Given the description of an element on the screen output the (x, y) to click on. 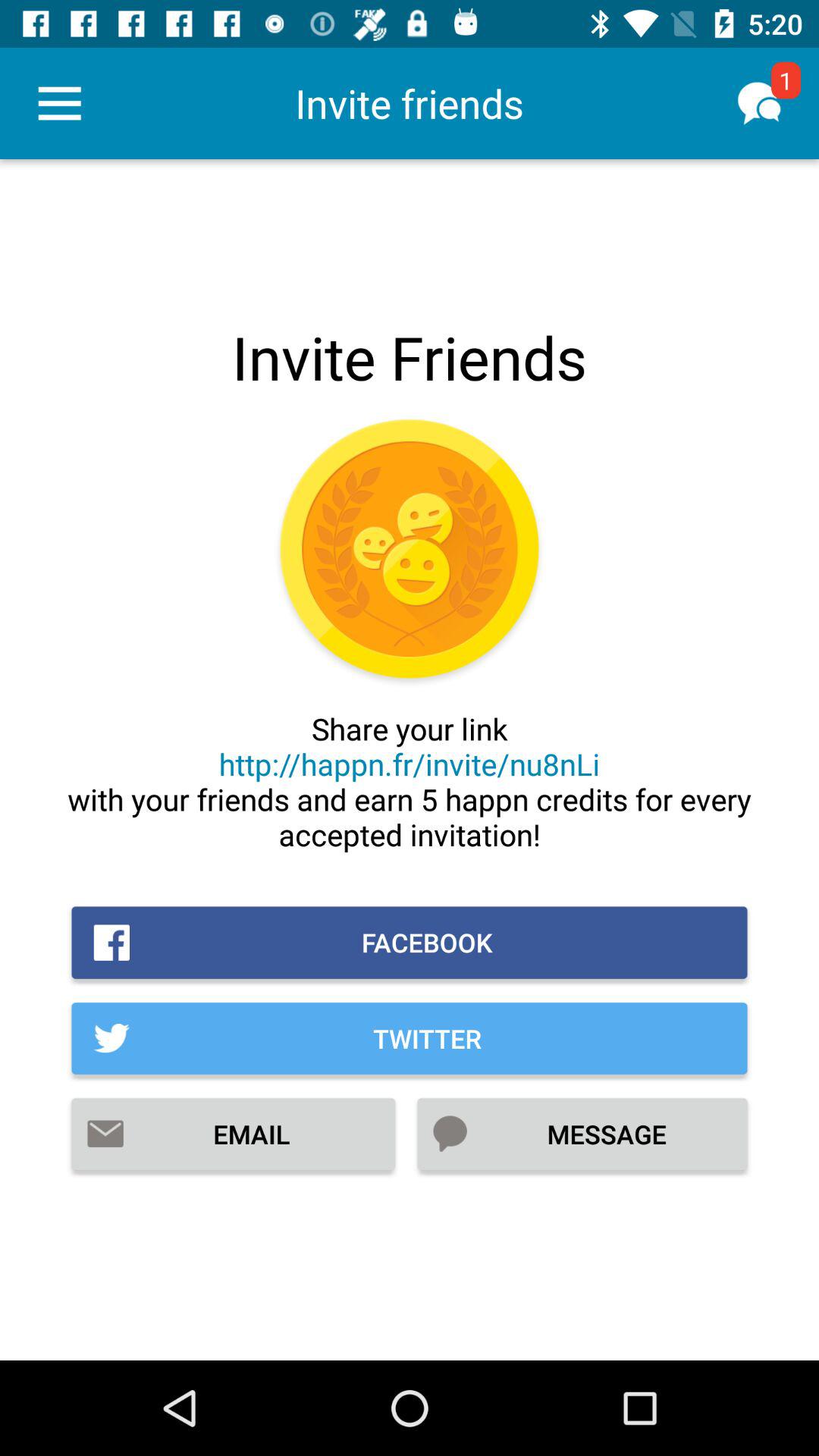
scroll until the email (233, 1133)
